Given the description of an element on the screen output the (x, y) to click on. 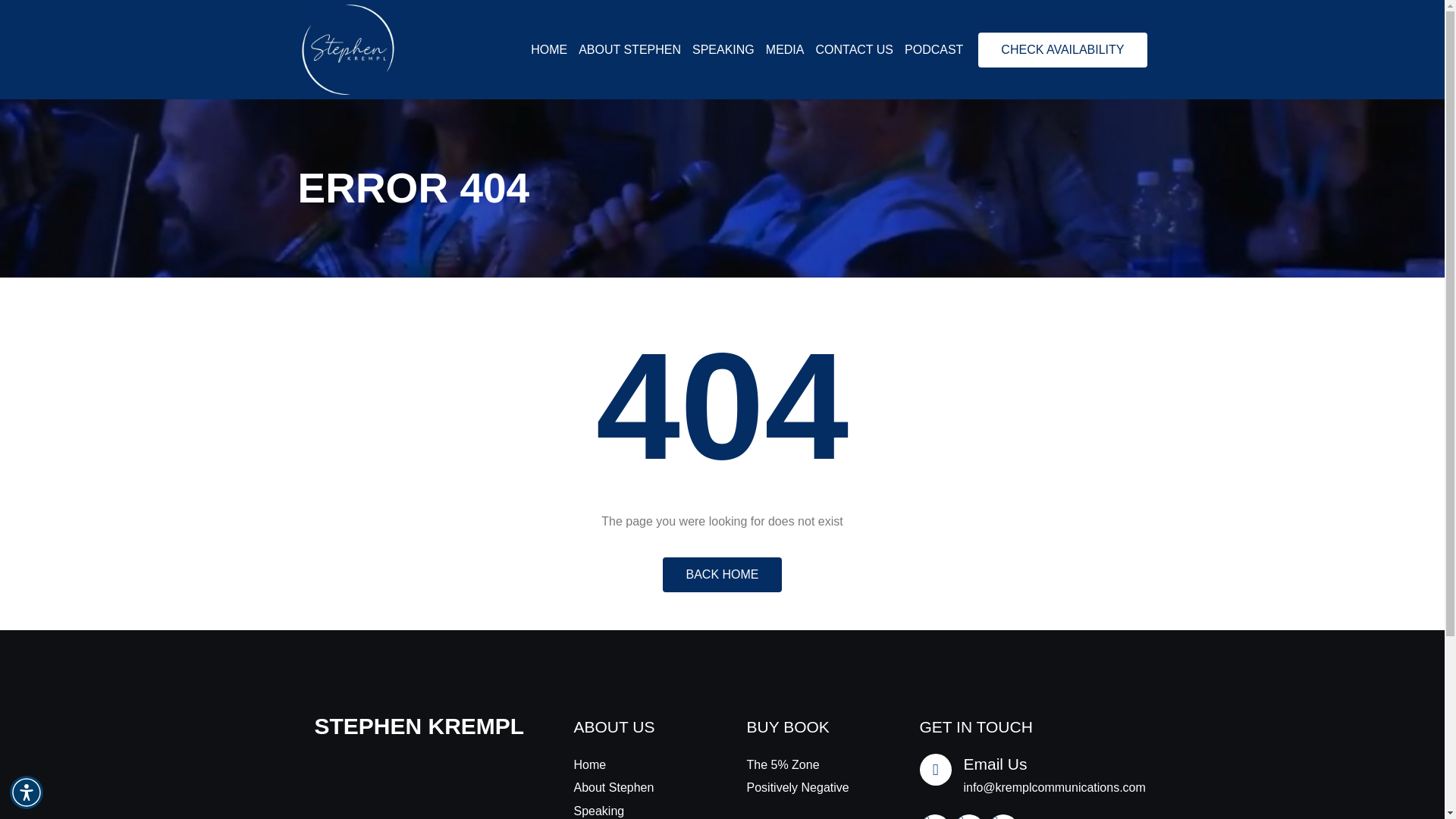
Accessibility Menu (26, 792)
Positively Negative (807, 787)
ABOUT STEPHEN (629, 49)
BACK HOME (721, 574)
Home (635, 764)
MEDIA (785, 49)
PODCAST (933, 49)
CONTACT US (854, 49)
About Stephen (635, 787)
CHECK AVAILABILITY (1062, 49)
